Given the description of an element on the screen output the (x, y) to click on. 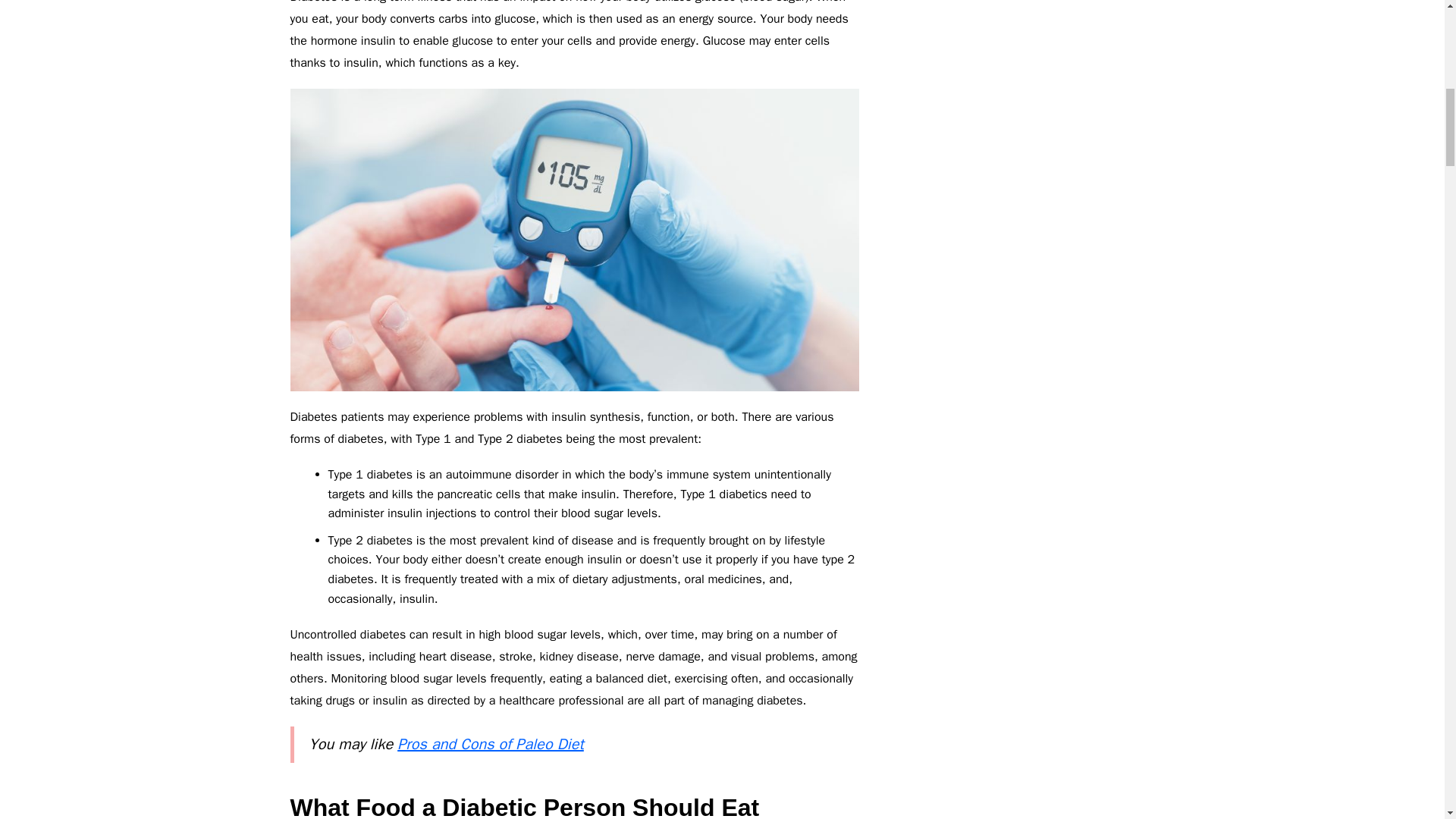
Pros and Cons of Paleo Diet (490, 743)
